Given the description of an element on the screen output the (x, y) to click on. 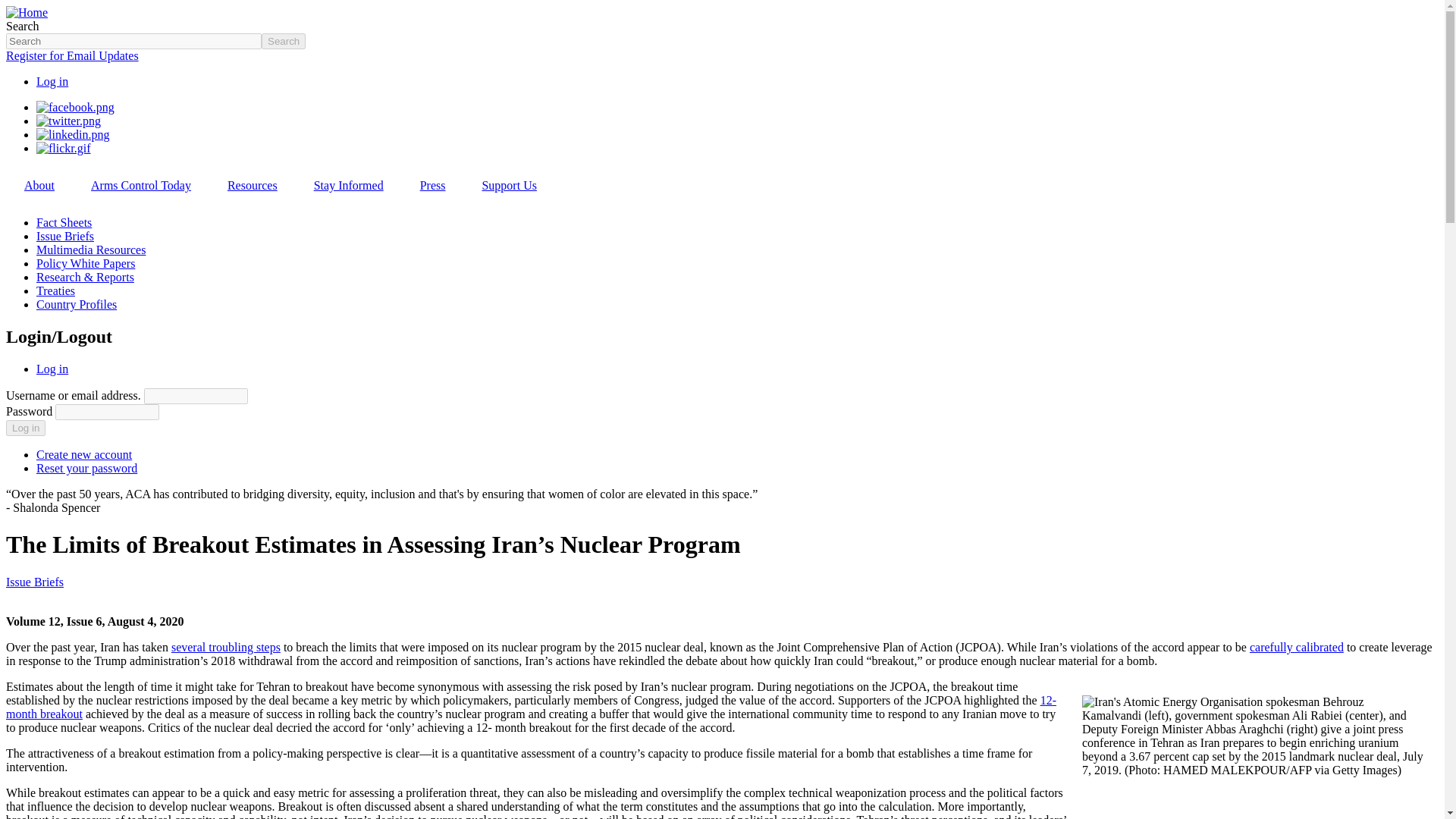
Create a new user account. (84, 454)
Register for Email Updates (71, 55)
Send password reset instructions via email. (86, 468)
Home (26, 11)
Enter the terms you wish to search for. (133, 41)
Log in (52, 81)
Resources (252, 185)
Arms Control Today (140, 185)
Search (283, 41)
Stay Informed (348, 185)
About (38, 185)
